Given the description of an element on the screen output the (x, y) to click on. 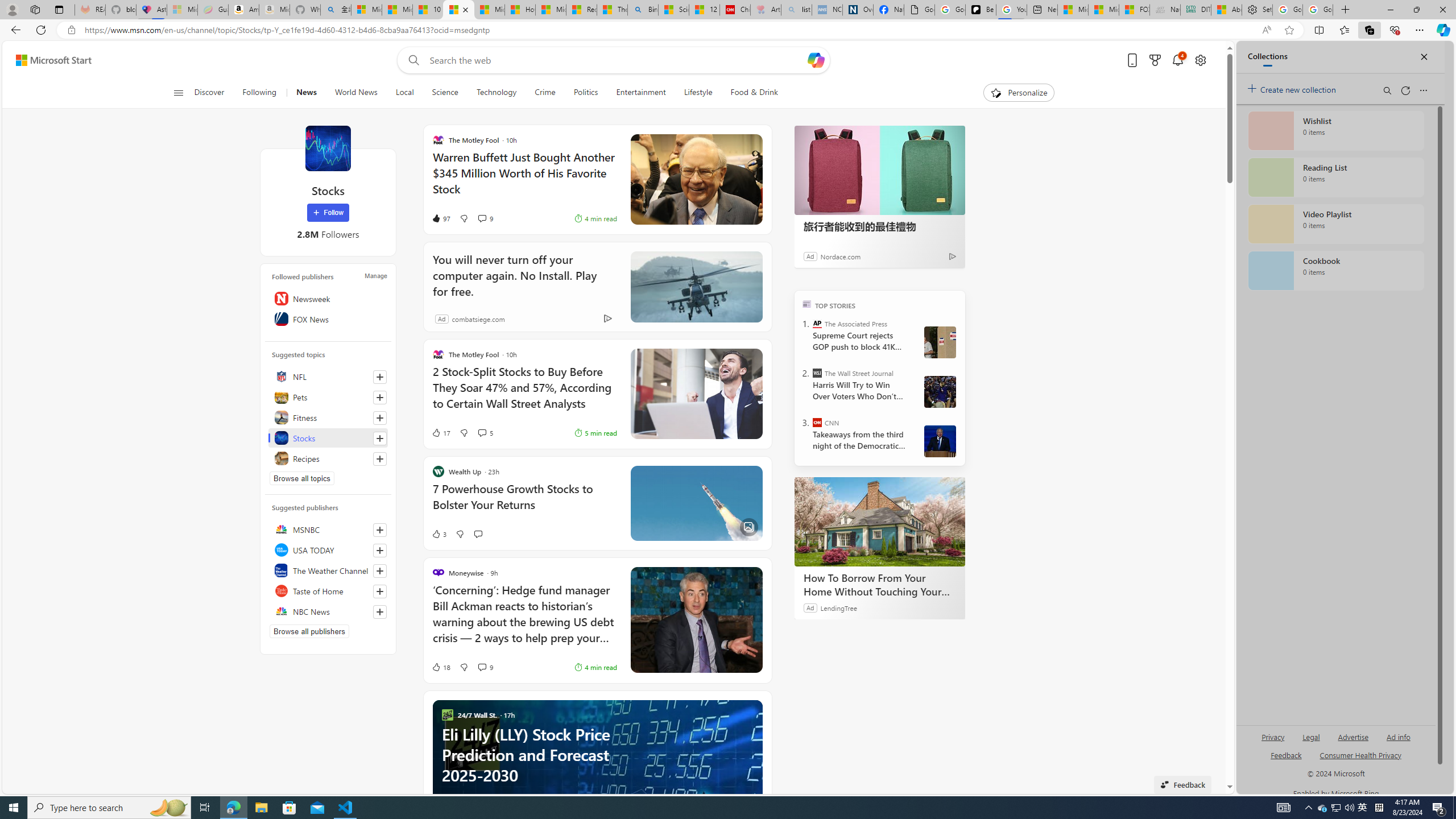
Open navigation menu (177, 92)
12 Popular Science Lies that Must be Corrected (704, 9)
Science - MSN (673, 9)
CNN (816, 422)
Enter your search term (617, 59)
Food & Drink (748, 92)
17 Like (440, 432)
Lifestyle (698, 92)
18 Like (440, 667)
3 Like (438, 533)
